Given the description of an element on the screen output the (x, y) to click on. 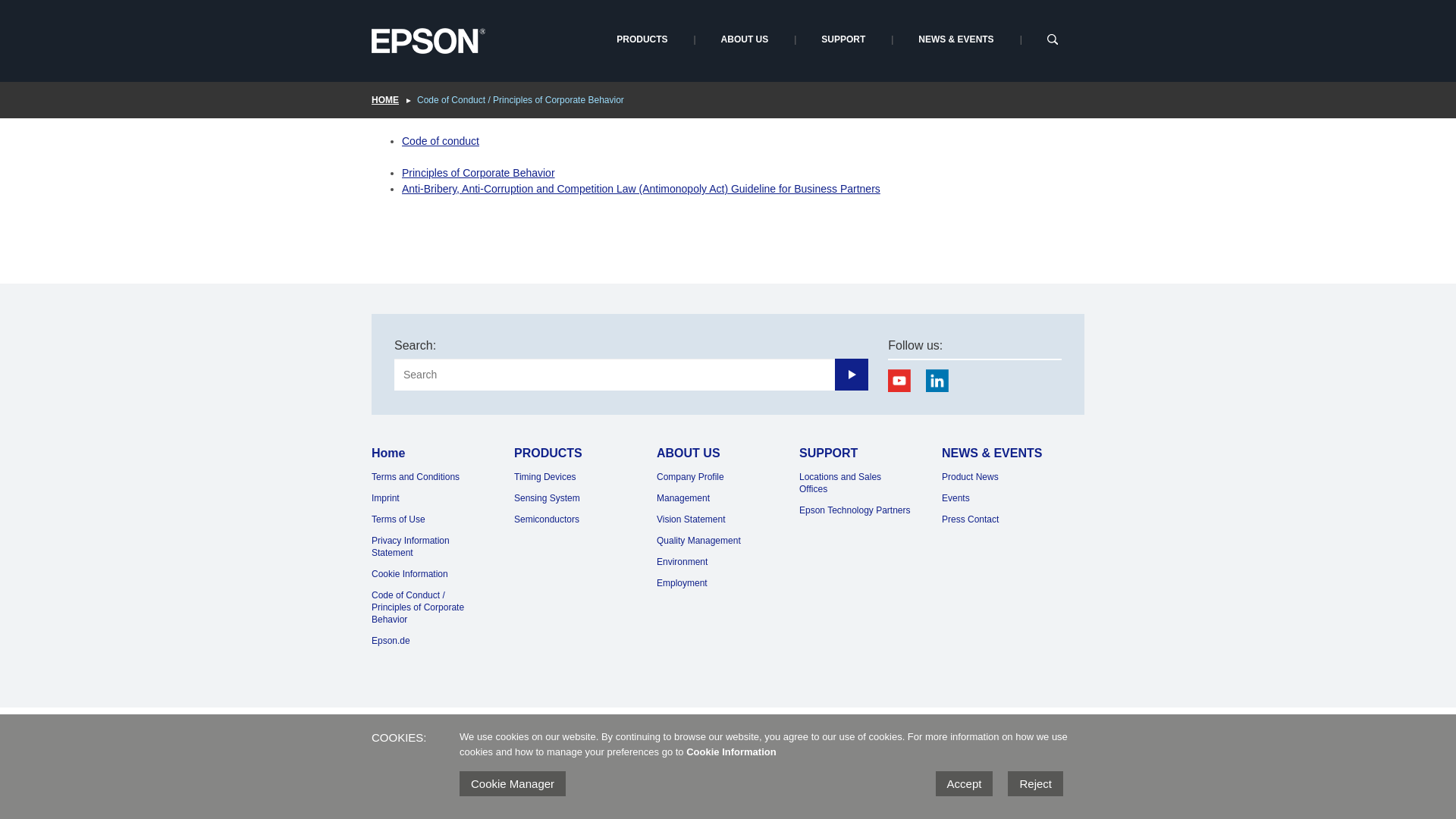
Code of conduct (440, 141)
ABOUT US (744, 39)
HOME (393, 100)
SUPPORT (842, 39)
Principles of Corporate Behavior (477, 173)
PRODUCTS (641, 39)
